Given the description of an element on the screen output the (x, y) to click on. 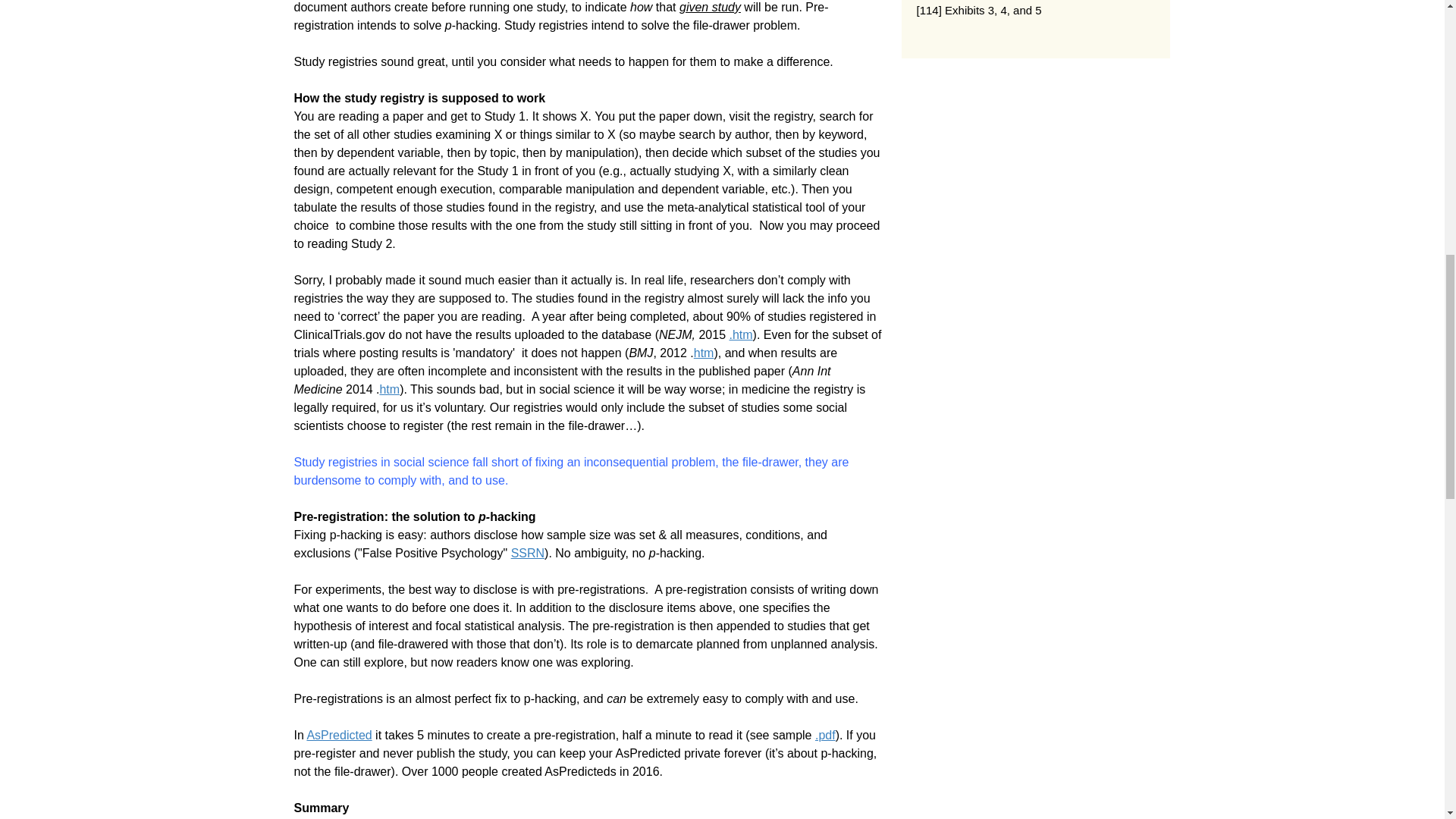
AsPredicted (338, 735)
htm (388, 389)
htm (704, 352)
SSRN (527, 553)
.htm (740, 334)
.pdf (825, 735)
